Given the description of an element on the screen output the (x, y) to click on. 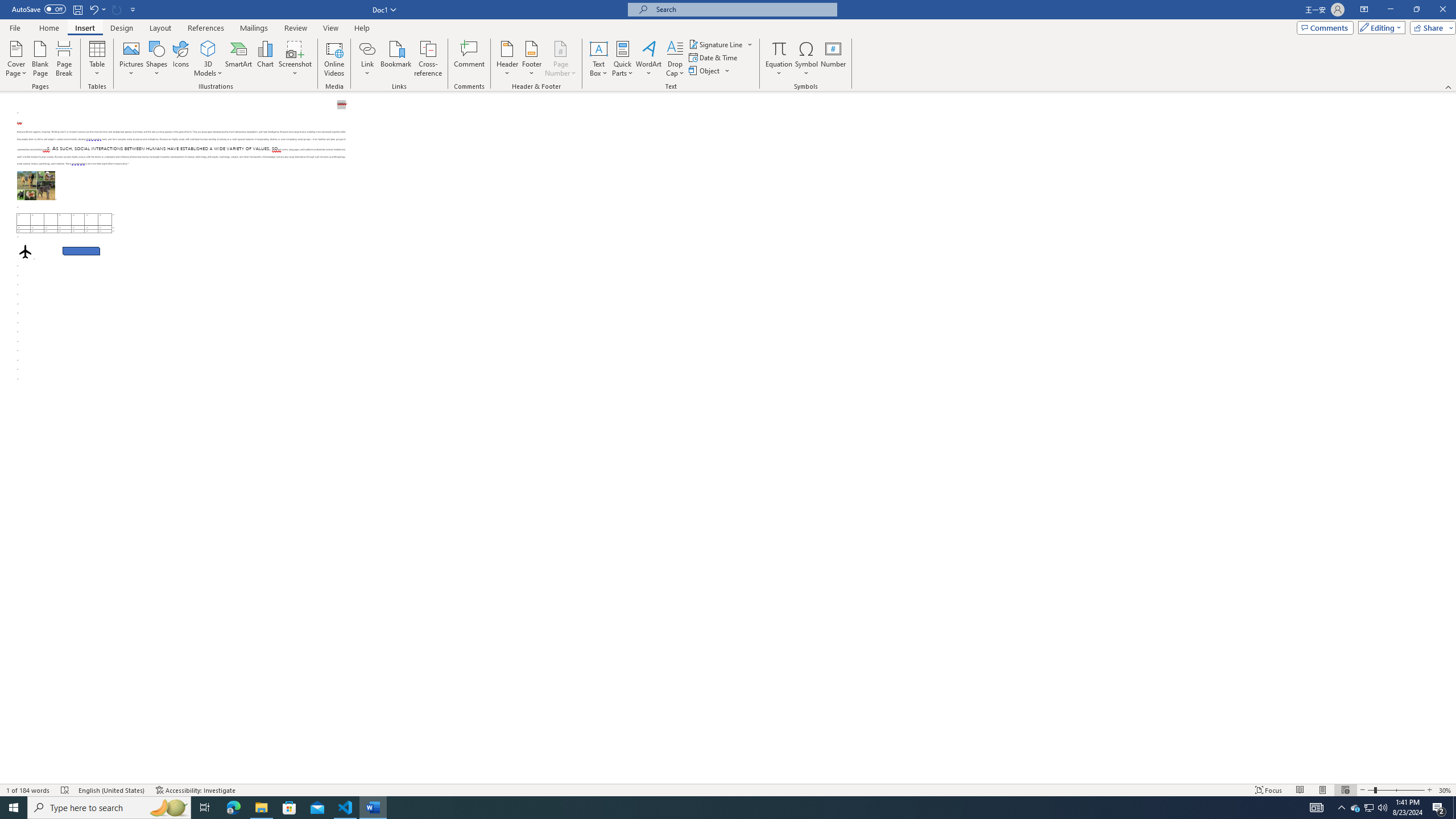
Home (48, 28)
Undo Apply Quick Style Set (96, 9)
Share (1430, 27)
Microsoft search (742, 9)
Link (367, 48)
References (205, 28)
Zoom Out (1370, 790)
Icons (180, 58)
